Given the description of an element on the screen output the (x, y) to click on. 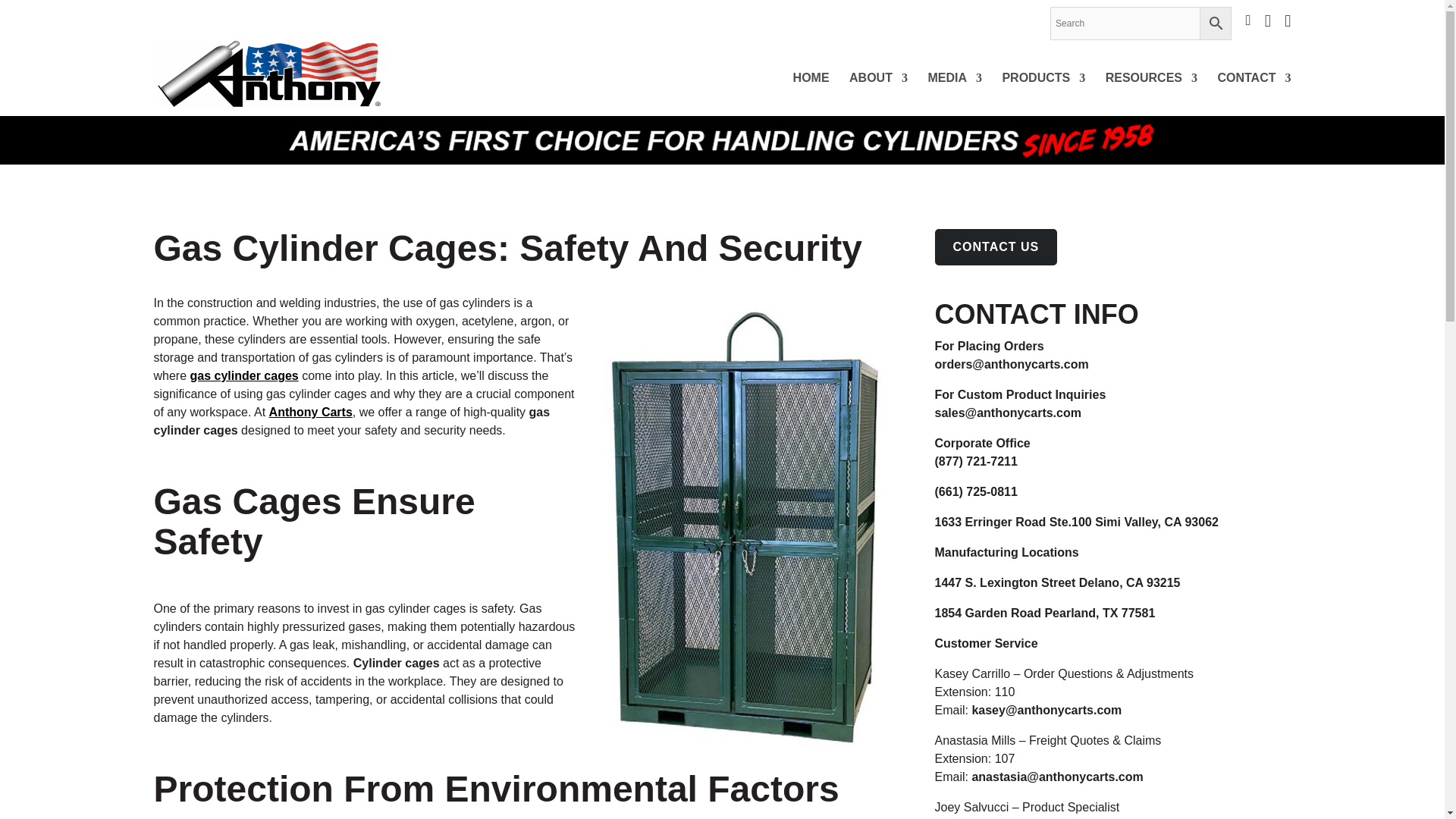
CONTACT (1253, 92)
RESOURCES (1150, 92)
ABOUT (877, 92)
PRODUCTS (1042, 92)
MEDIA (954, 92)
